Given the description of an element on the screen output the (x, y) to click on. 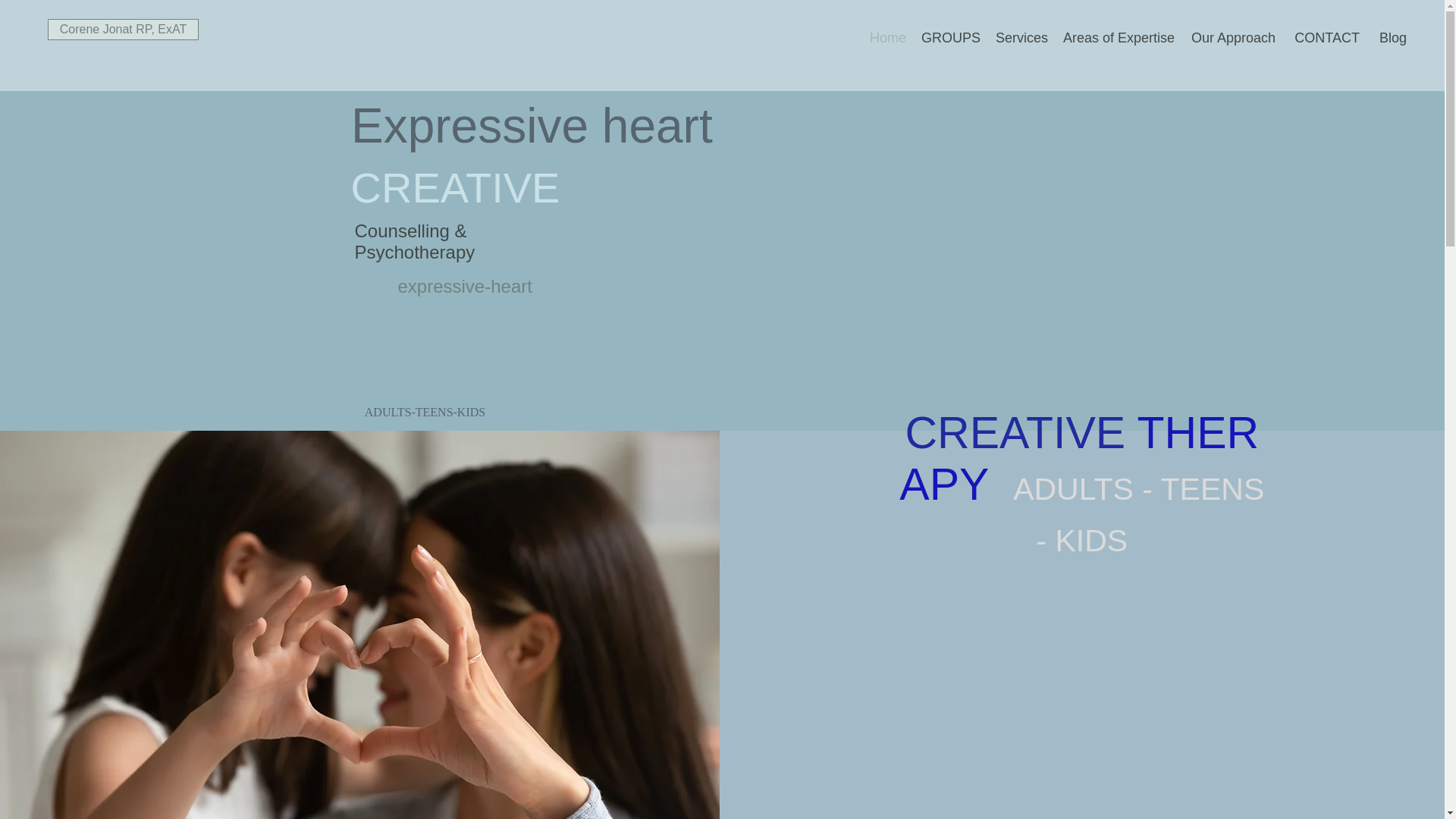
Areas of Expertise (1116, 37)
Home (886, 37)
Services (1021, 37)
CONTACT (1324, 37)
GROUPS (951, 37)
Our Approach (1229, 37)
Corene Jonat RP, ExAT (123, 29)
Blog (1390, 37)
